Given the description of an element on the screen output the (x, y) to click on. 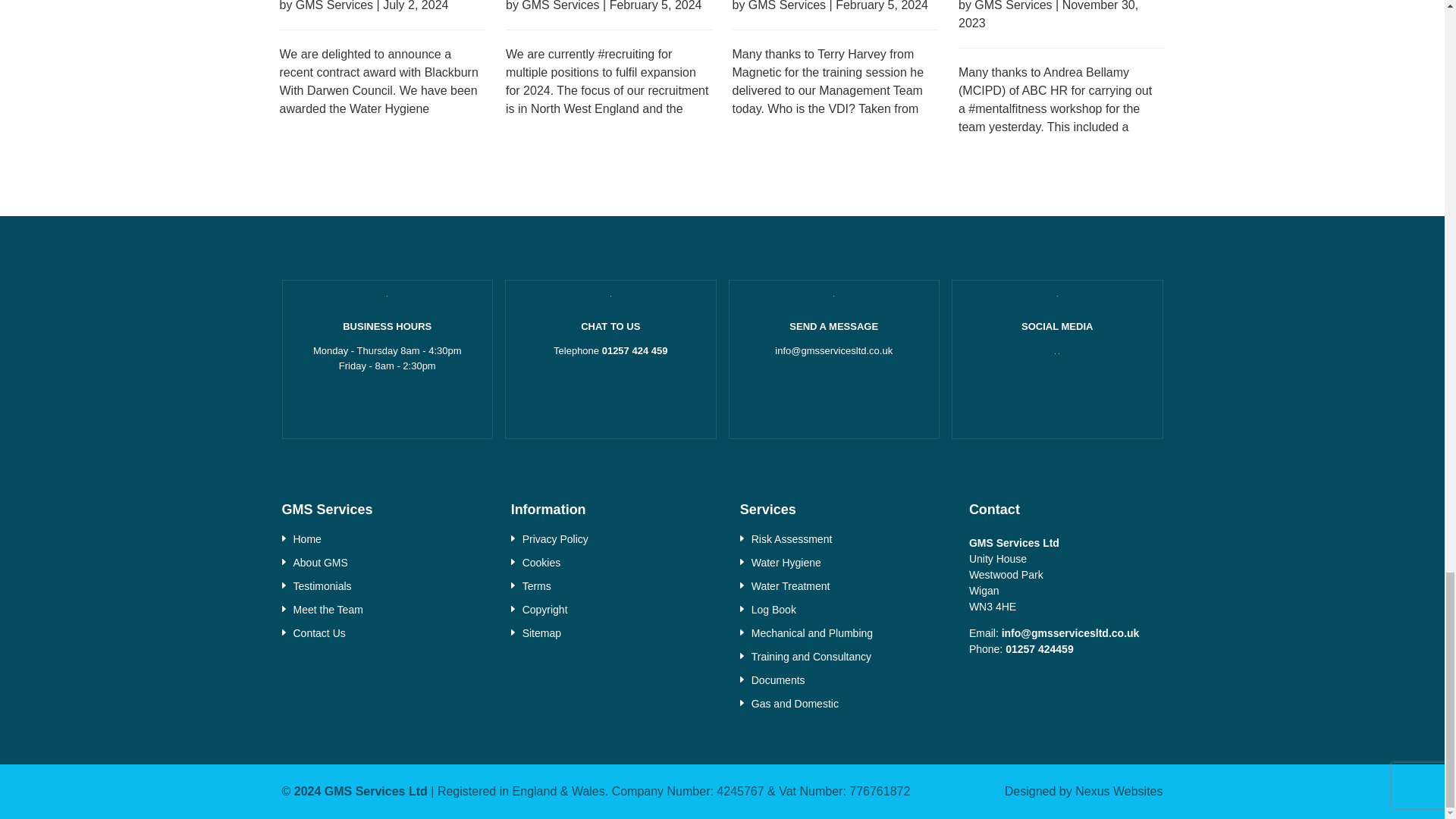
Contract Win! (382, 15)
VDI 2035 Training (835, 15)
Recruitment Drive 2024! (609, 15)
Mental Fitness Workshop (1062, 24)
